Given the description of an element on the screen output the (x, y) to click on. 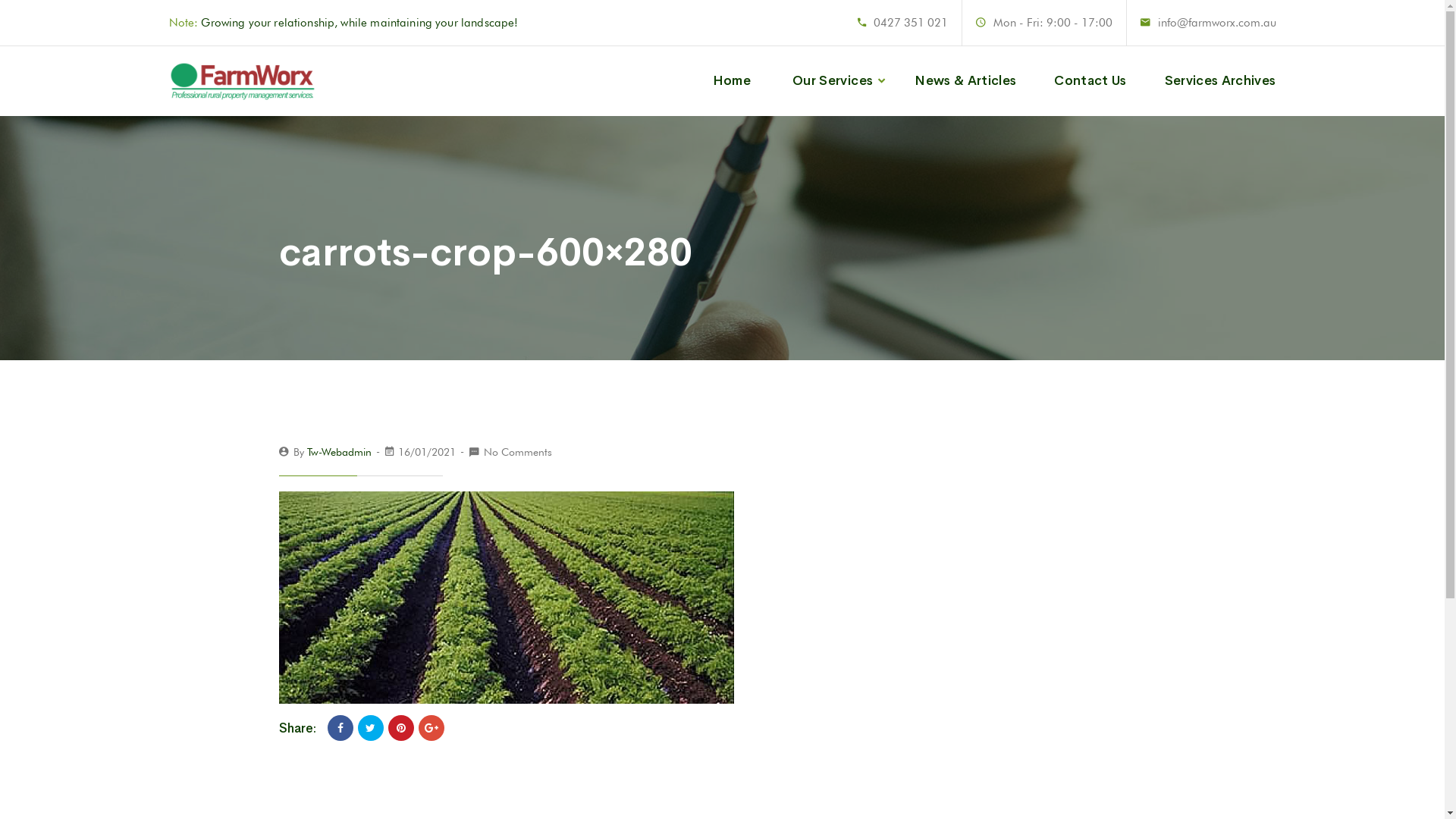
0427 351 021 Element type: text (910, 22)
Facebook Element type: hover (340, 727)
News & Articles Element type: text (965, 81)
Home Element type: text (731, 81)
Services Archives Element type: text (1220, 81)
Pinterest Element type: hover (401, 727)
info@farmworx.com.au Element type: text (1216, 22)
Contact Us Element type: text (1090, 81)
Google Plus Element type: hover (431, 727)
Twitter Element type: hover (370, 727)
Tw-Webadmin Element type: text (338, 451)
FarmWorx Pty Ltd Element type: hover (242, 79)
Our Services Element type: text (832, 81)
No Comments Element type: text (517, 451)
